Given the description of an element on the screen output the (x, y) to click on. 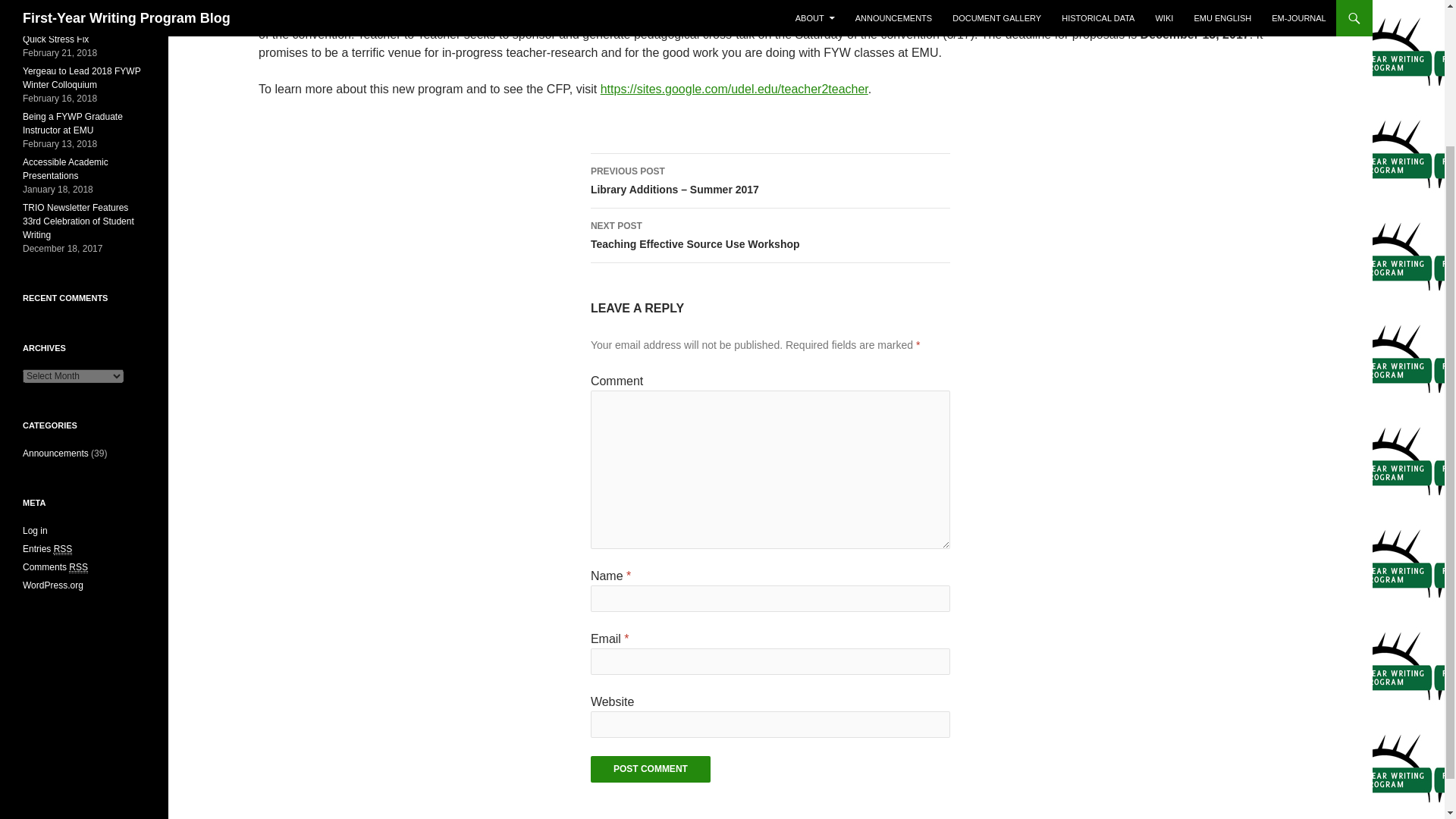
Post Comment (770, 235)
WordPress.org (650, 768)
Quick Stress Fix (52, 584)
Announcements (55, 39)
Yergeau to Lead 2018 FYWP Winter Colloquium (55, 452)
Really Simple Syndication (81, 78)
Entries RSS (62, 549)
Accessible Academic Presentations (47, 549)
Log in (65, 168)
Post Comment (35, 530)
Being a FYWP Graduate Instructor at EMU (650, 768)
TRIO Newsletter Features 33rd Celebration of Student Writing (72, 123)
Really Simple Syndication (78, 221)
